Given the description of an element on the screen output the (x, y) to click on. 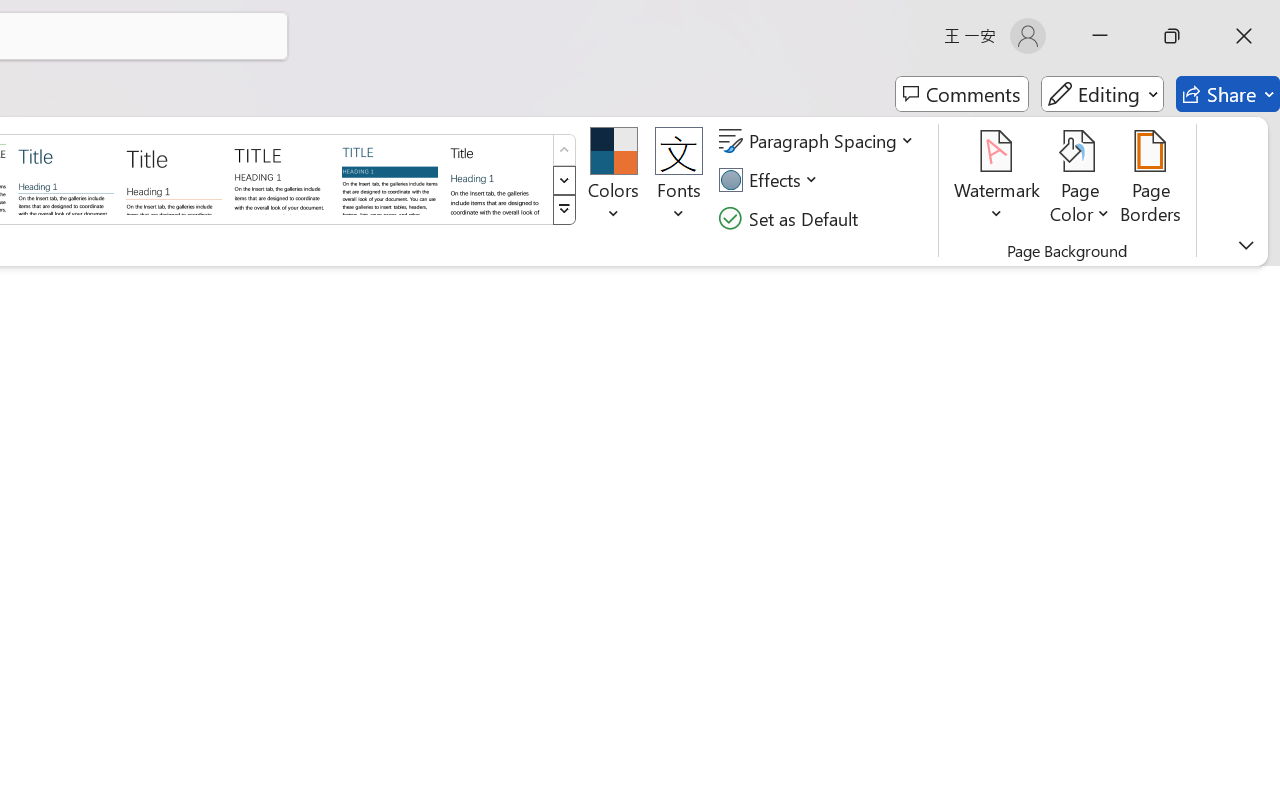
Watermark (997, 179)
Colors (613, 179)
Lines (Stylish) (173, 178)
Row up (564, 150)
Paragraph Spacing (819, 141)
Shaded (389, 178)
Minimize (1099, 36)
Editing (1101, 94)
Page Borders... (1151, 179)
Share (1228, 94)
